Given the description of an element on the screen output the (x, y) to click on. 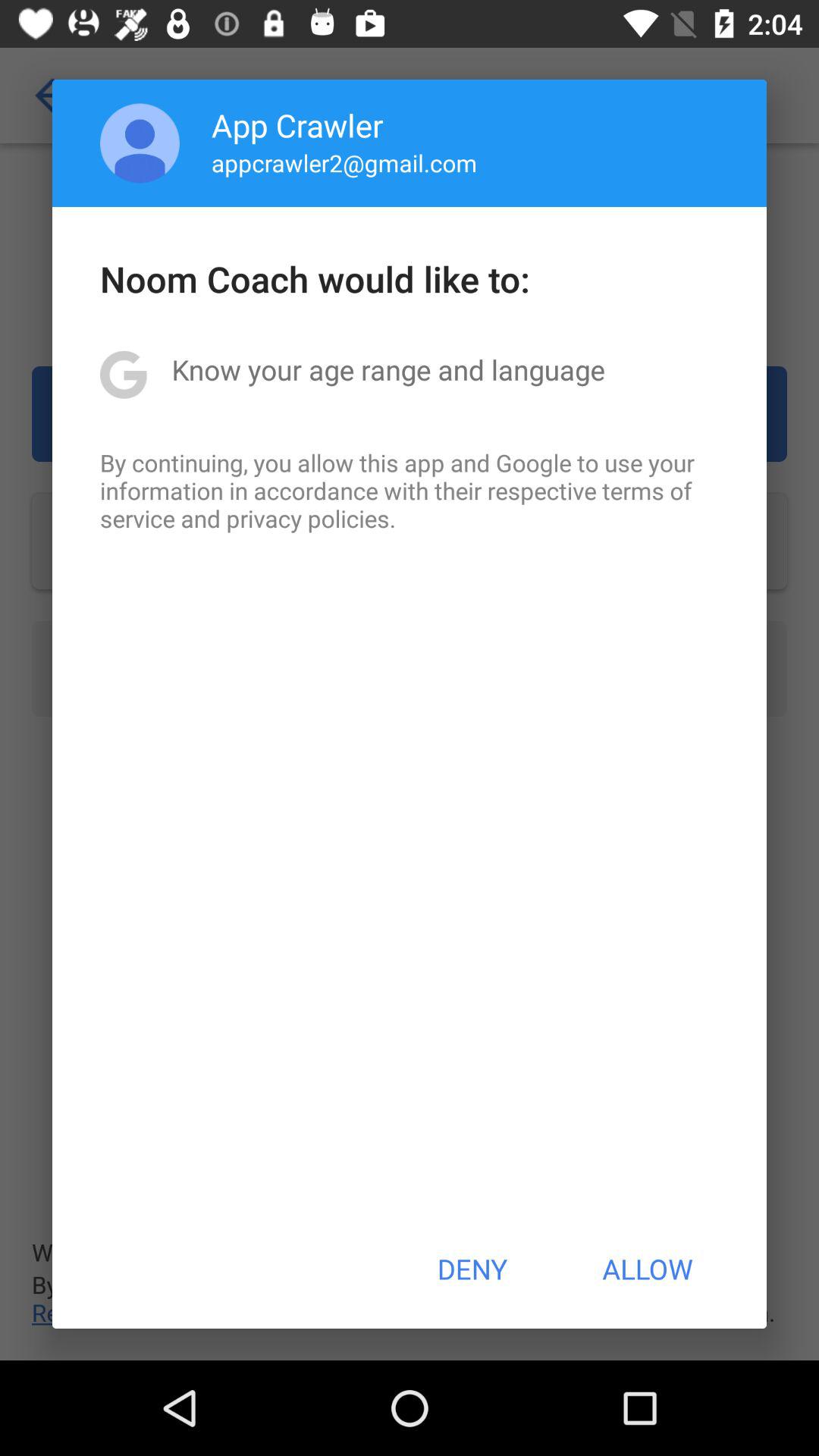
swipe to know your age item (388, 369)
